Given the description of an element on the screen output the (x, y) to click on. 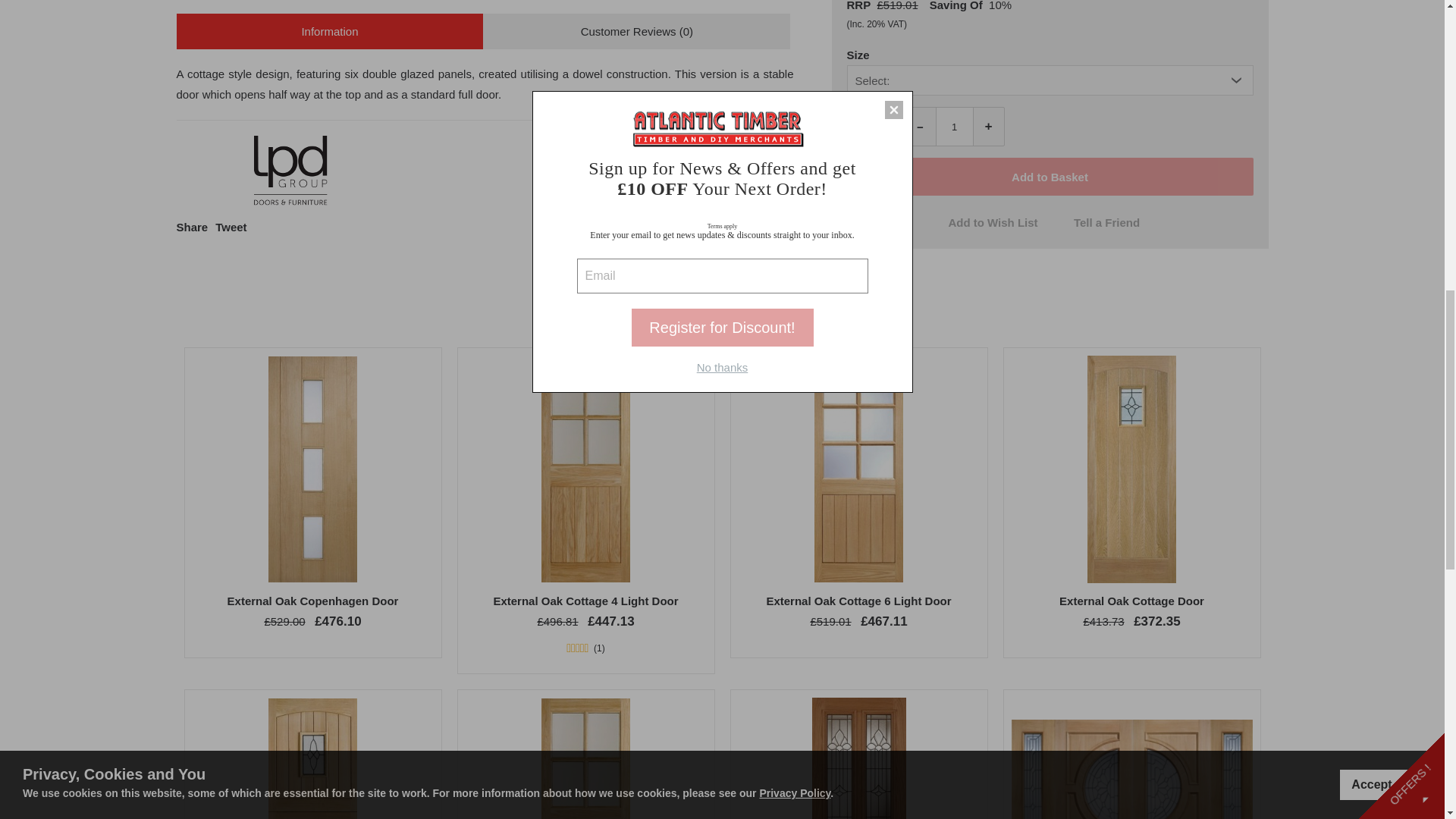
External Oak Cottage 4 Light Door (585, 600)
External Oak Cottage 6 Light Door (857, 600)
External Oak Copenhagen Door (312, 600)
Information (329, 31)
Tweet (230, 226)
External Oak Cottage Door (1131, 600)
Share (192, 226)
